Given the description of an element on the screen output the (x, y) to click on. 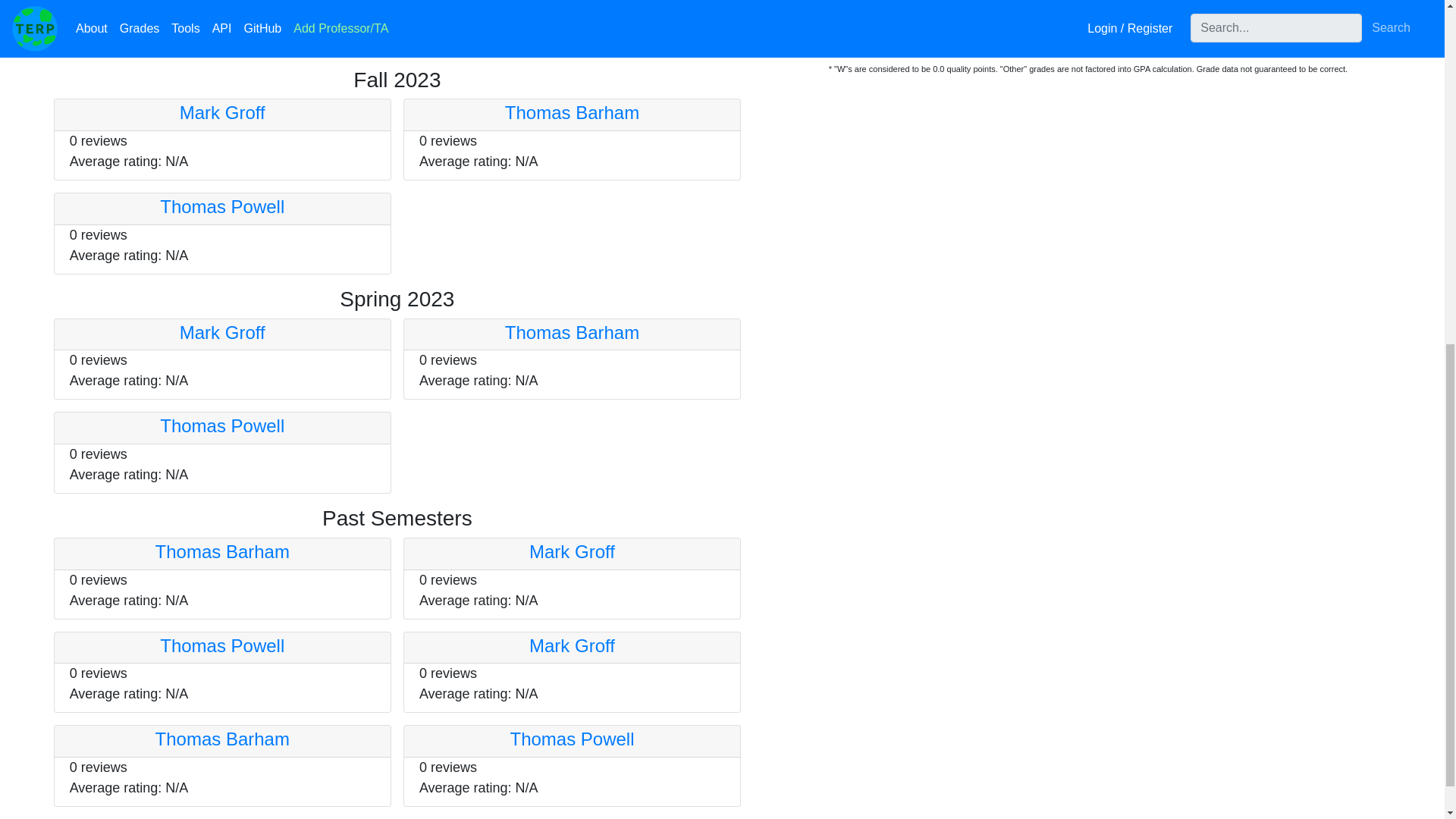
Thomas Powell (221, 206)
Mark Groff (571, 645)
Mark Groff (571, 551)
Mark Groff (221, 112)
Thomas Powell (571, 738)
Thomas Barham (572, 112)
Thomas Powell (221, 645)
Thomas Powell (221, 425)
Mark Groff (221, 332)
Thomas Barham (222, 738)
Thomas Barham (222, 551)
Thomas Barham (572, 332)
